Given the description of an element on the screen output the (x, y) to click on. 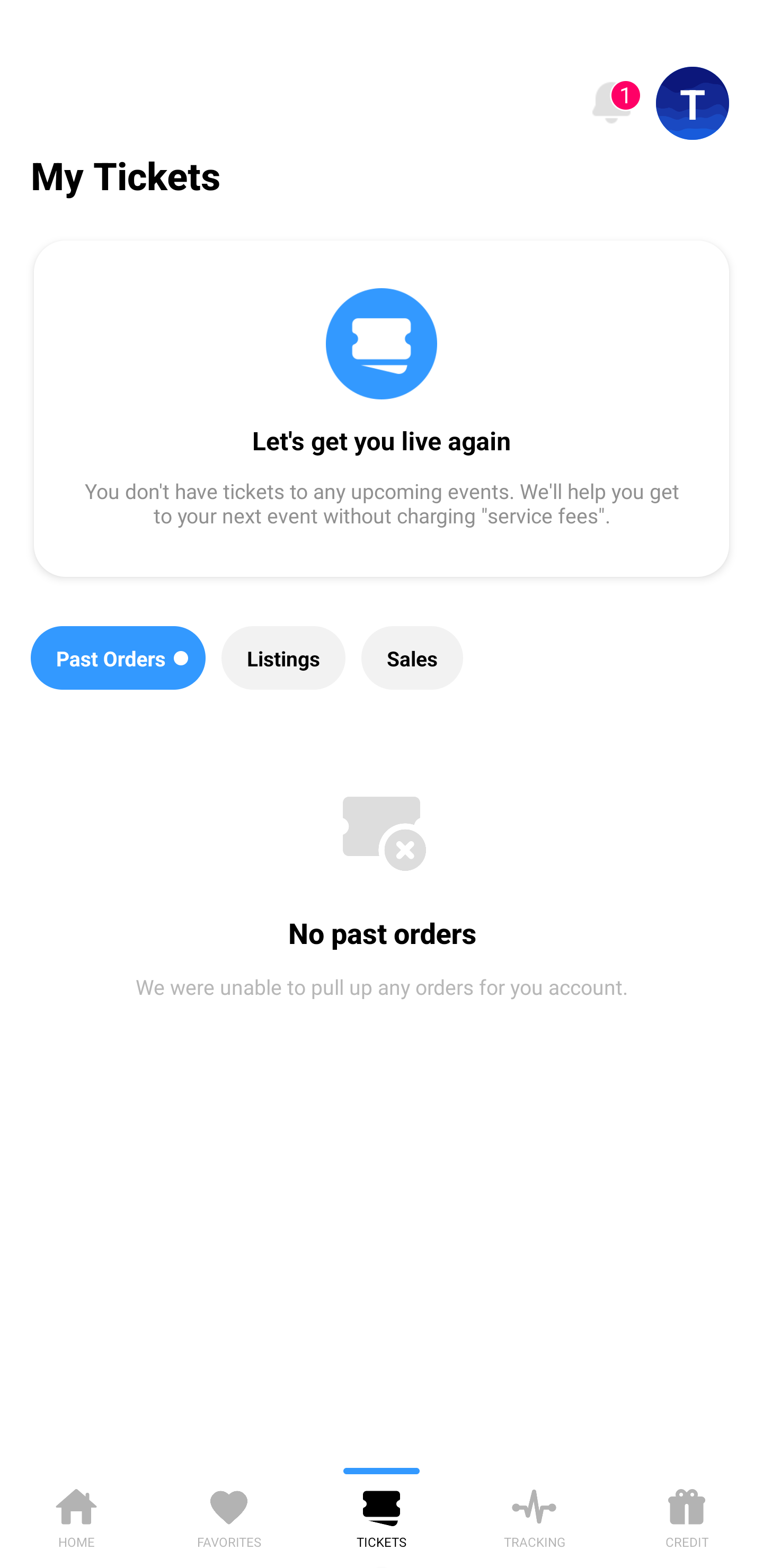
T (692, 103)
1 (611, 103)
Past Orders (117, 657)
Listings (283, 657)
Sales (412, 657)
HOME (76, 1515)
FAVORITES (228, 1515)
TICKETS (381, 1515)
TRACKING (533, 1515)
CREDIT (686, 1515)
